Given the description of an element on the screen output the (x, y) to click on. 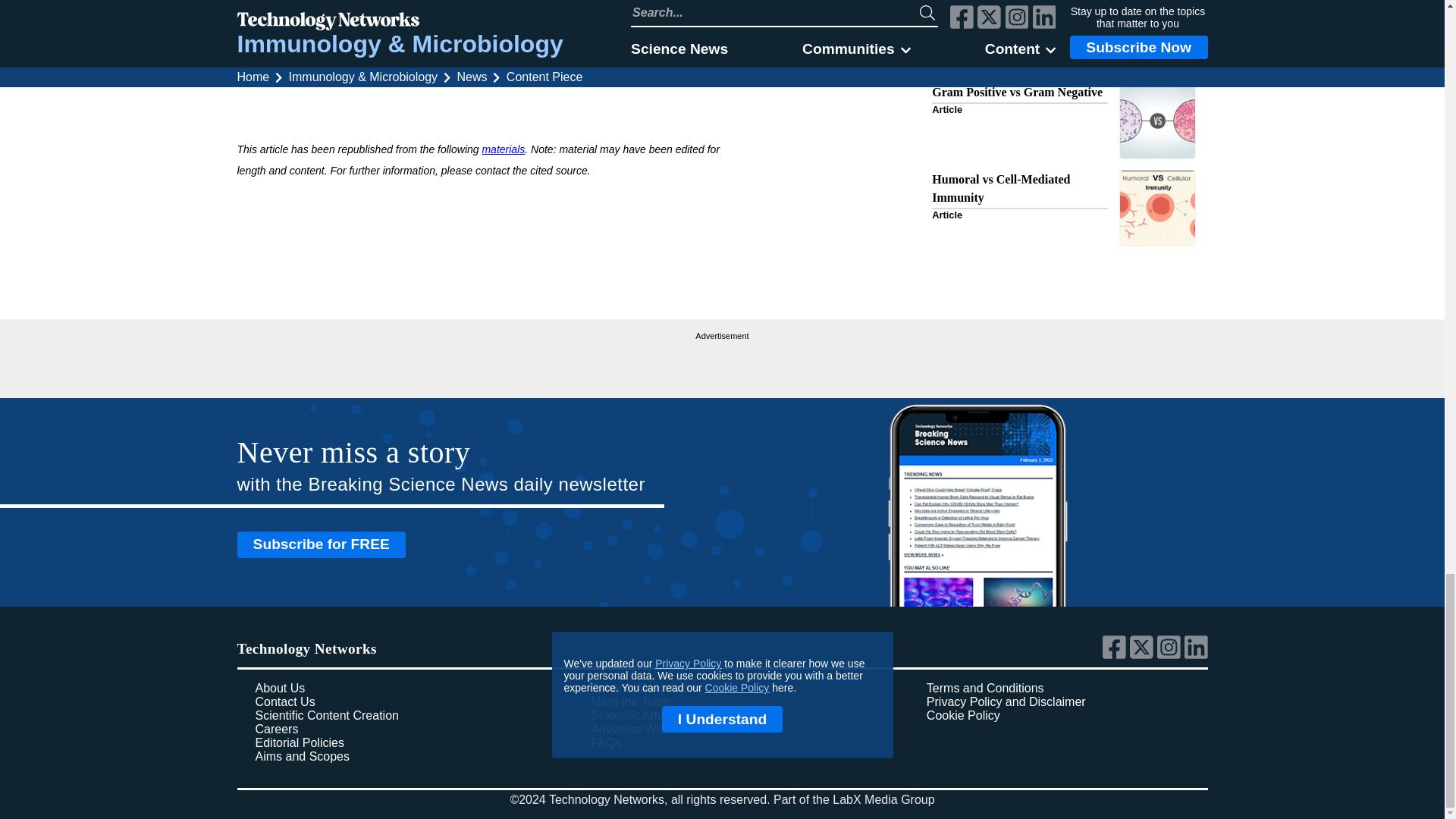
Link to Technology Networks' twitter page (1143, 655)
3rd party ad content (721, 362)
Link to Technology Networks' instagram page (1171, 655)
Link to Technology Networks' facebook page (1115, 655)
Link to Technology Networks' linkedin page (1196, 655)
